Given the description of an element on the screen output the (x, y) to click on. 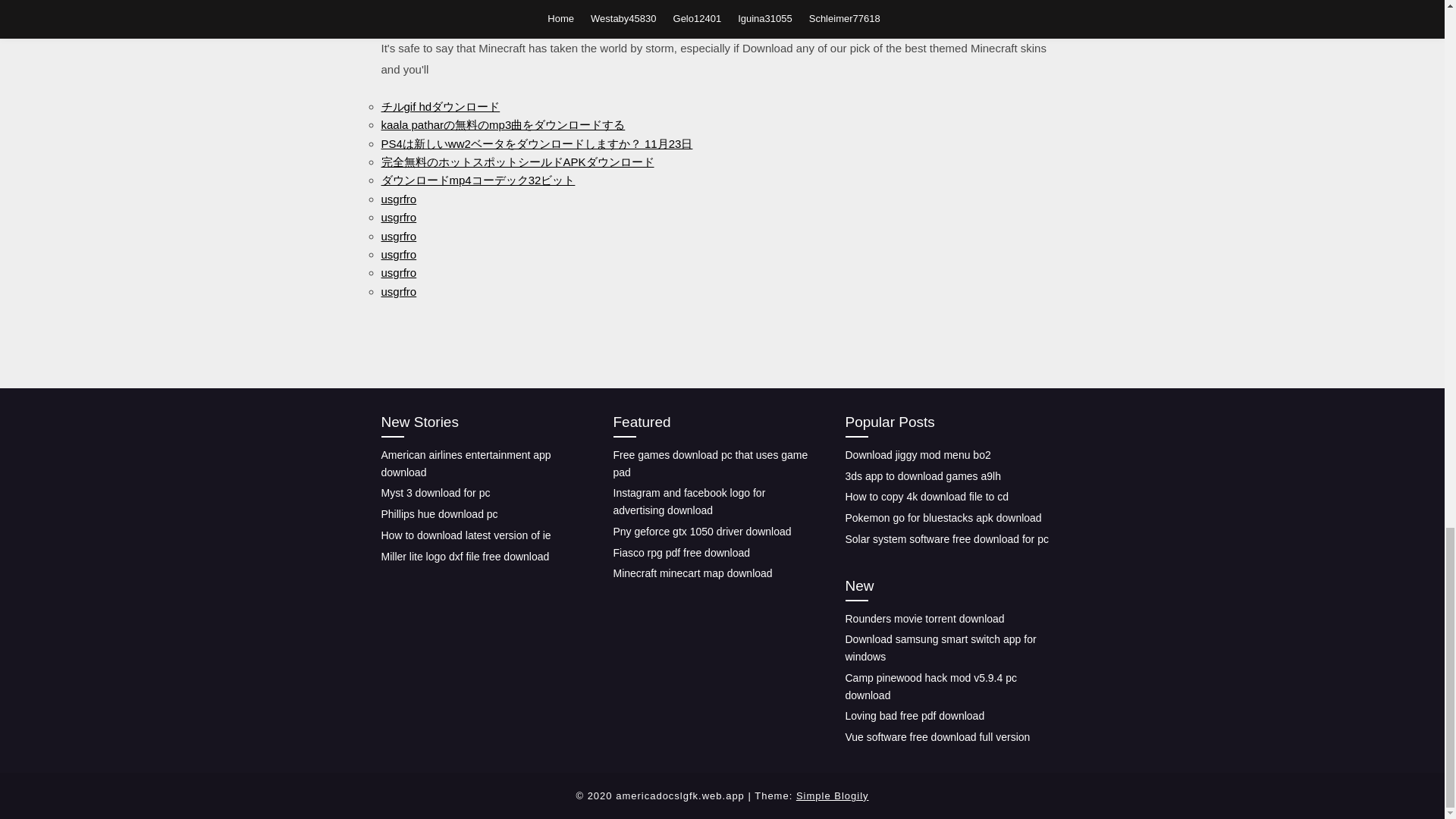
Pny geforce gtx 1050 driver download (701, 531)
American airlines entertainment app download (465, 463)
How to download latest version of ie (465, 535)
usgrfro (398, 216)
How to copy 4k download file to cd (926, 496)
usgrfro (398, 198)
usgrfro (398, 291)
Download samsung smart switch app for windows (939, 647)
Pokemon go for bluestacks apk download (942, 517)
Fiasco rpg pdf free download (680, 552)
